Given the description of an element on the screen output the (x, y) to click on. 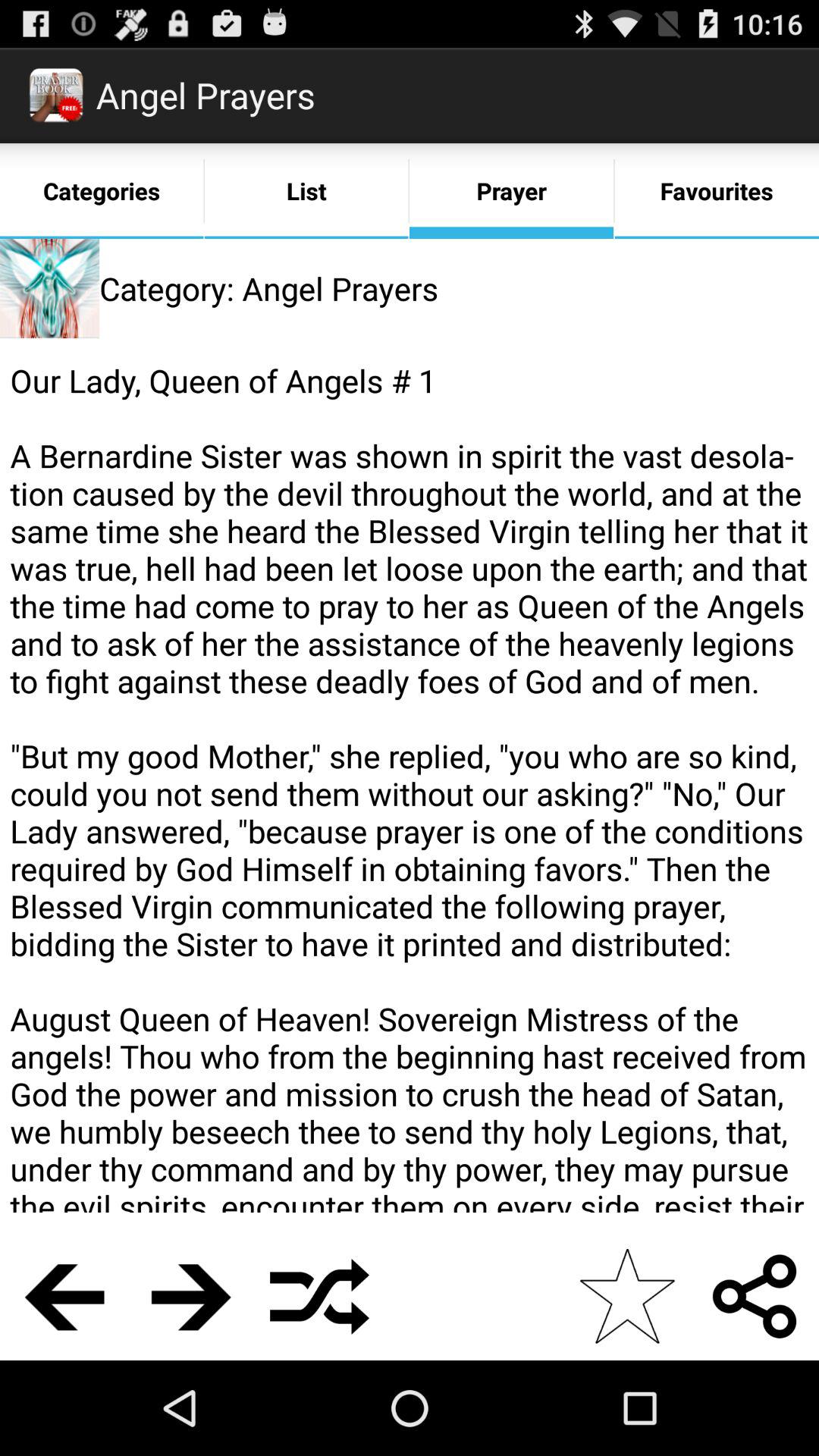
tap the icon below the our lady queen icon (191, 1296)
